Given the description of an element on the screen output the (x, y) to click on. 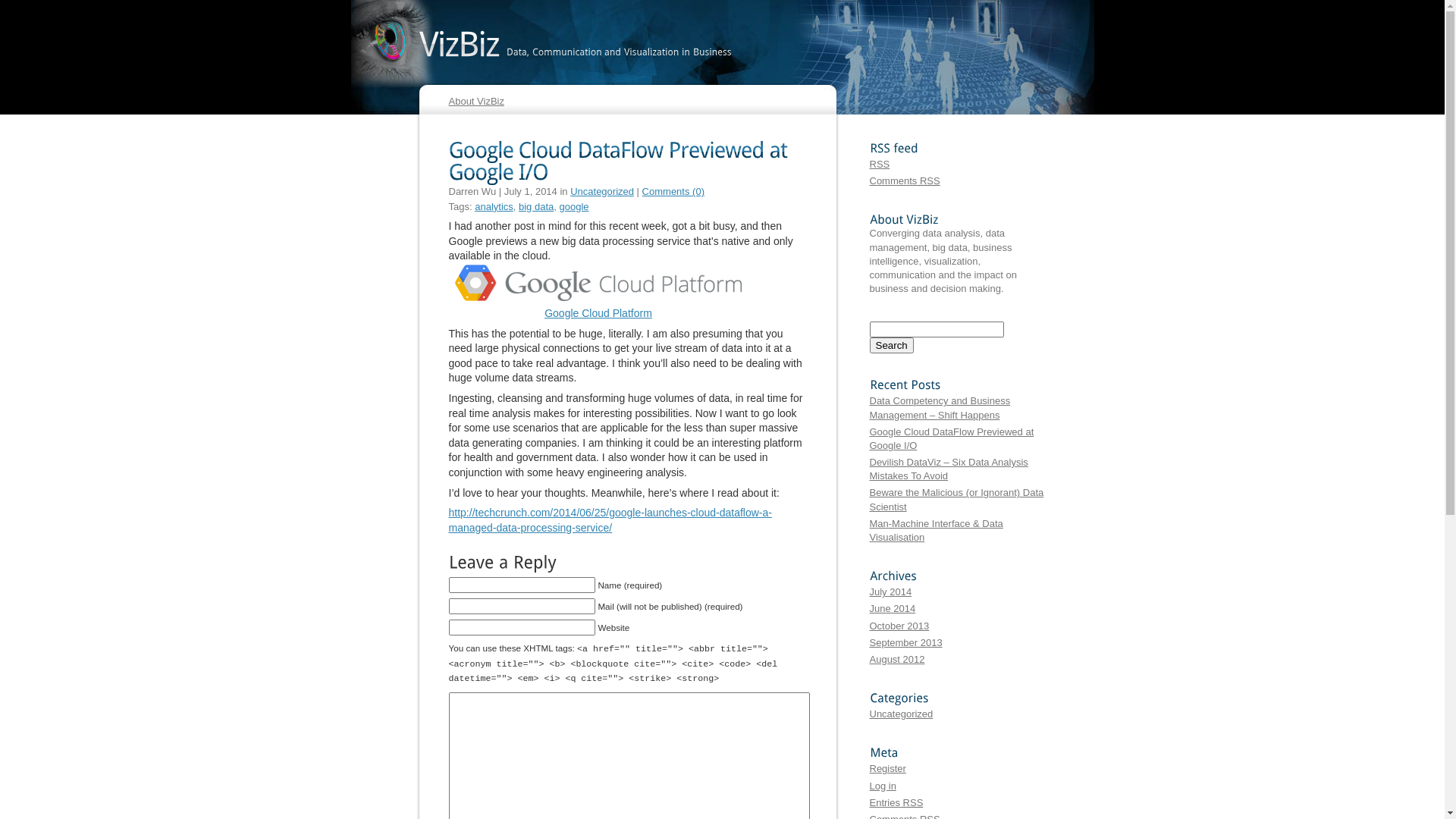
Log in Element type: text (882, 784)
Comments RSS Element type: text (904, 180)
Man-Machine Interface & Data Visualisation Element type: text (935, 529)
June 2014 Element type: text (892, 608)
Google Cloud DataFlow Previewed at Google I/O Element type: text (951, 438)
Google Cloud Platform Element type: text (598, 313)
big data Element type: text (535, 206)
Beware the Malicious (or Ignorant) Data Scientist Element type: text (956, 498)
google Element type: text (574, 206)
analytics Element type: text (493, 206)
August 2012 Element type: text (896, 659)
July 2014 Element type: text (890, 591)
Entries RSS Element type: text (895, 802)
October 2013 Element type: text (898, 625)
About VizBiz Element type: text (476, 100)
Comments (0) Element type: text (673, 191)
September 2013 Element type: text (905, 642)
RSS Element type: text (879, 163)
Search Element type: text (891, 345)
Uncategorized Element type: text (900, 713)
Register Element type: text (887, 768)
Uncategorized Element type: text (601, 191)
